Given the description of an element on the screen output the (x, y) to click on. 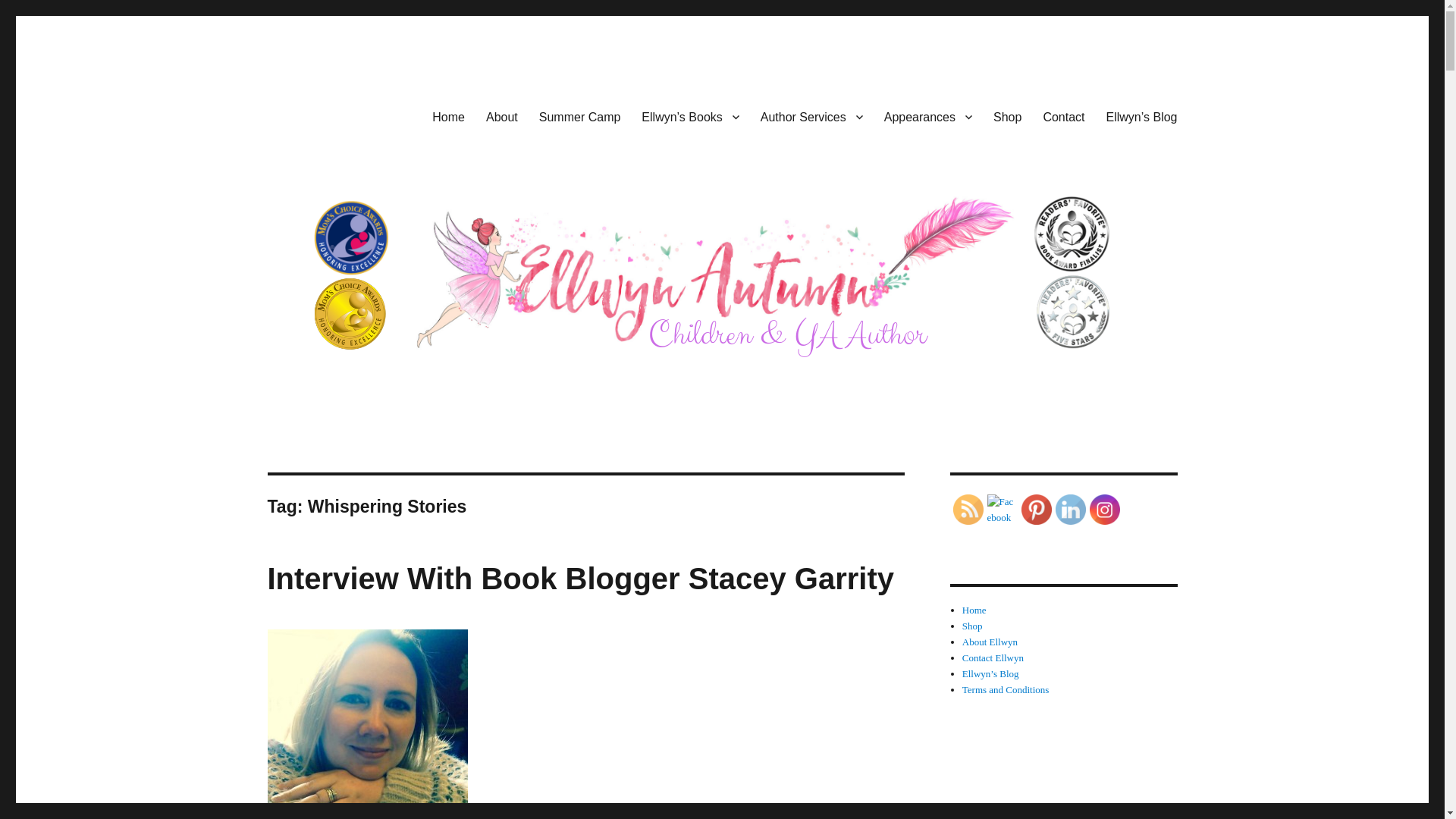
Home (449, 116)
Author Services (811, 116)
Ellwyn Autumn (342, 114)
Contact (1063, 116)
Interview With Book Blogger Stacey Garrity (579, 578)
LinkedIn (1070, 509)
Facebook (1002, 510)
Summer Camp (579, 116)
RSS (967, 509)
Pinterest (1035, 509)
Shop (1007, 116)
About (502, 116)
Appearances (927, 116)
Instagram (1104, 509)
